Given the description of an element on the screen output the (x, y) to click on. 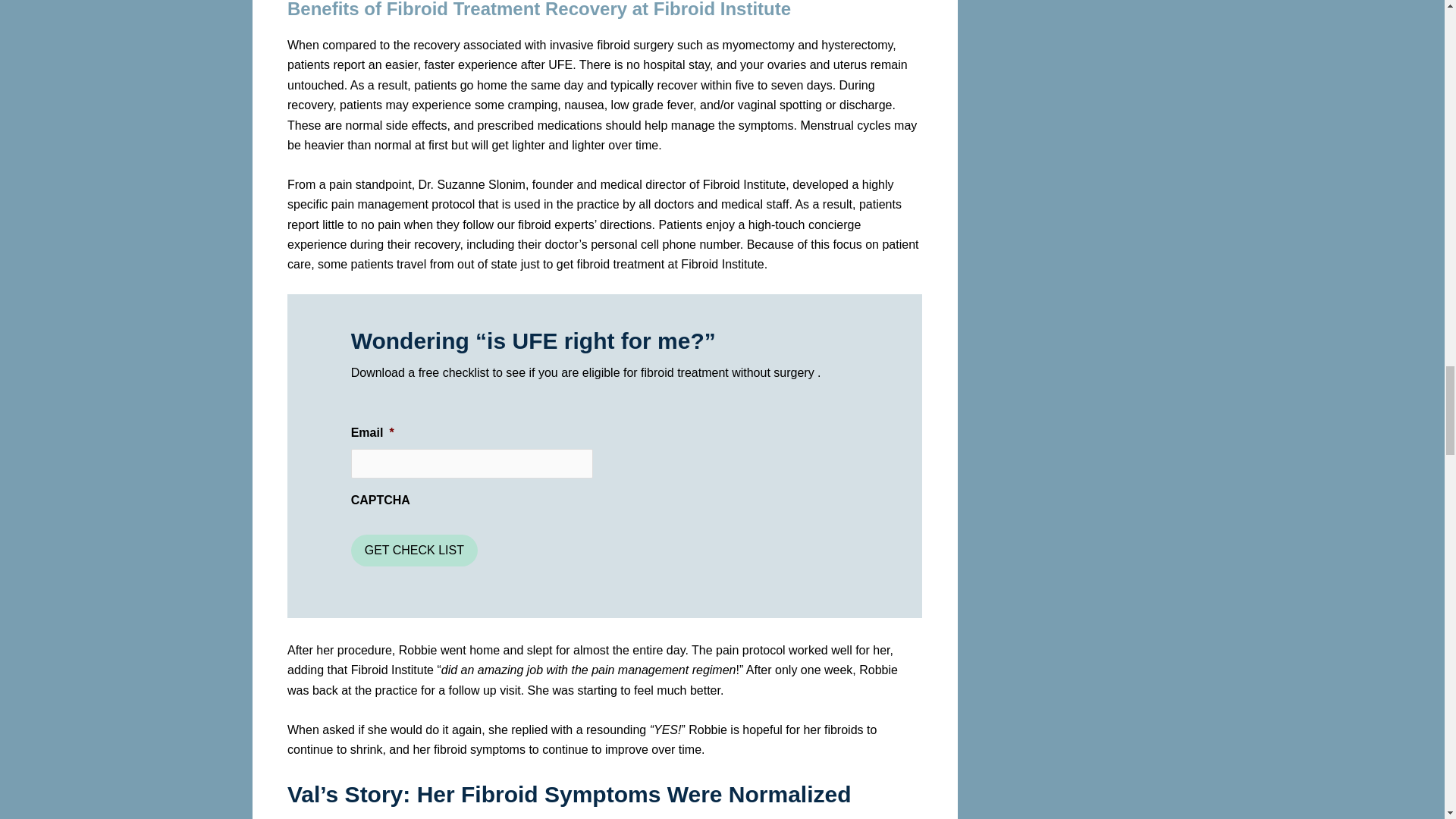
GET CHECK LIST (413, 550)
